Given the description of an element on the screen output the (x, y) to click on. 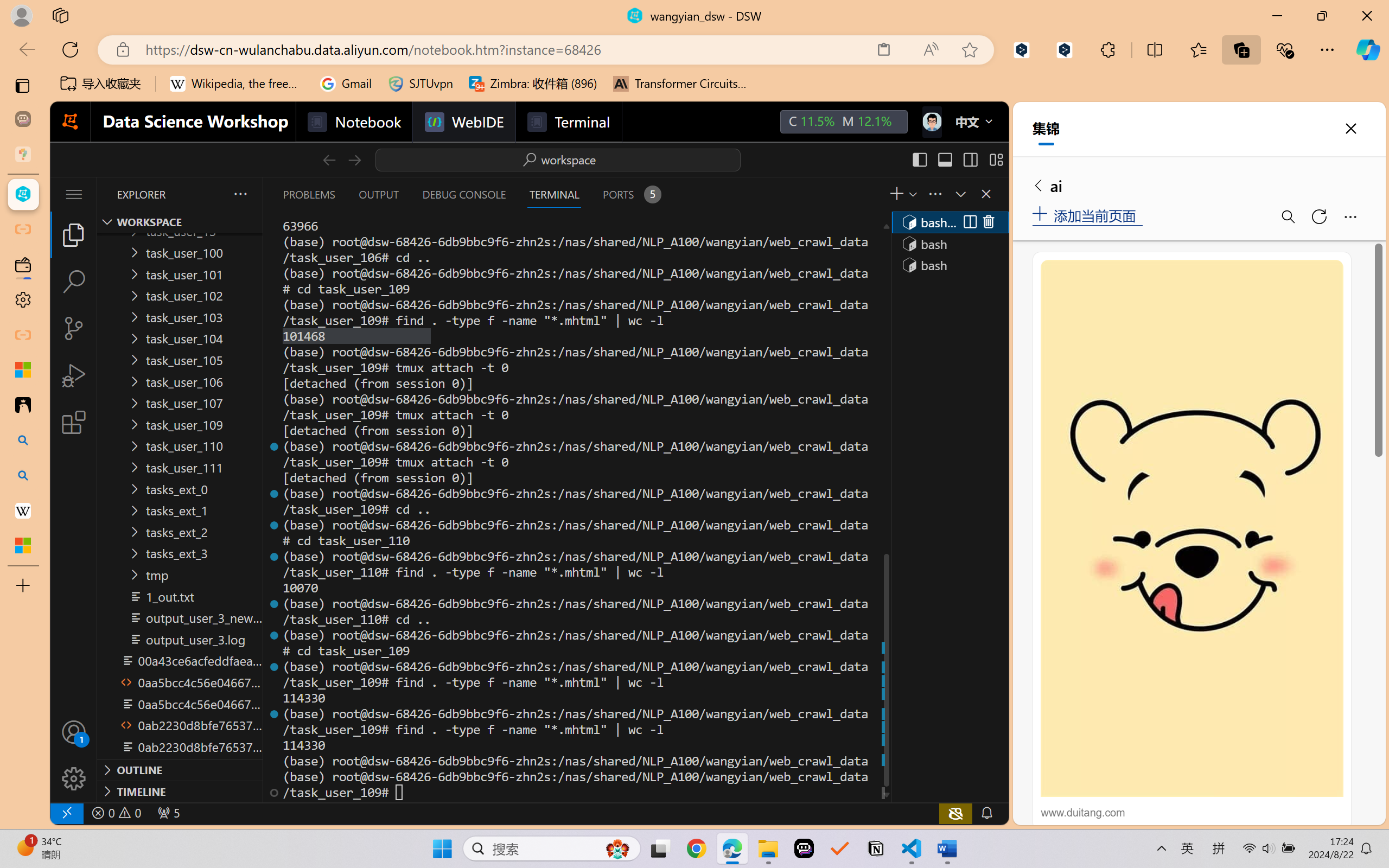
Terminal actions (812, 194)
Toggle Secondary Side Bar (Ctrl+Alt+B) (969, 159)
Notebook (353, 121)
Manage (73, 778)
Outline Section (179, 769)
Class: menubar compact overflow-menu-only (73, 194)
Title actions (957, 159)
Split (Ctrl+Shift+5) (968, 221)
Class: next-menu next-hoz widgets--iconMenu--BFkiHRM (930, 121)
Terminal (Ctrl+`) (553, 194)
Copilot (Ctrl+Shift+.) (1368, 49)
